Given the description of an element on the screen output the (x, y) to click on. 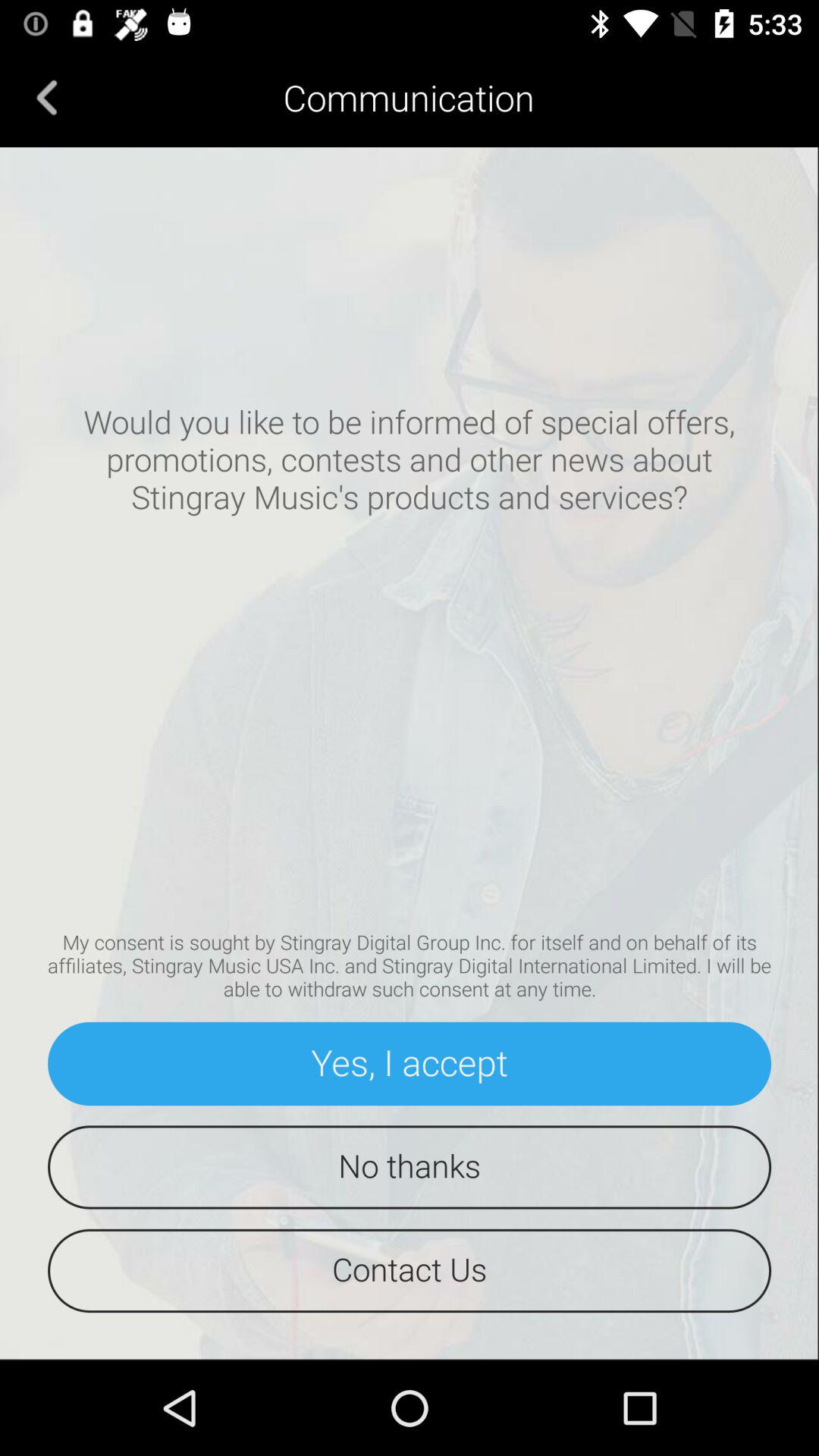
launch the icon below no thanks (409, 1270)
